Given the description of an element on the screen output the (x, y) to click on. 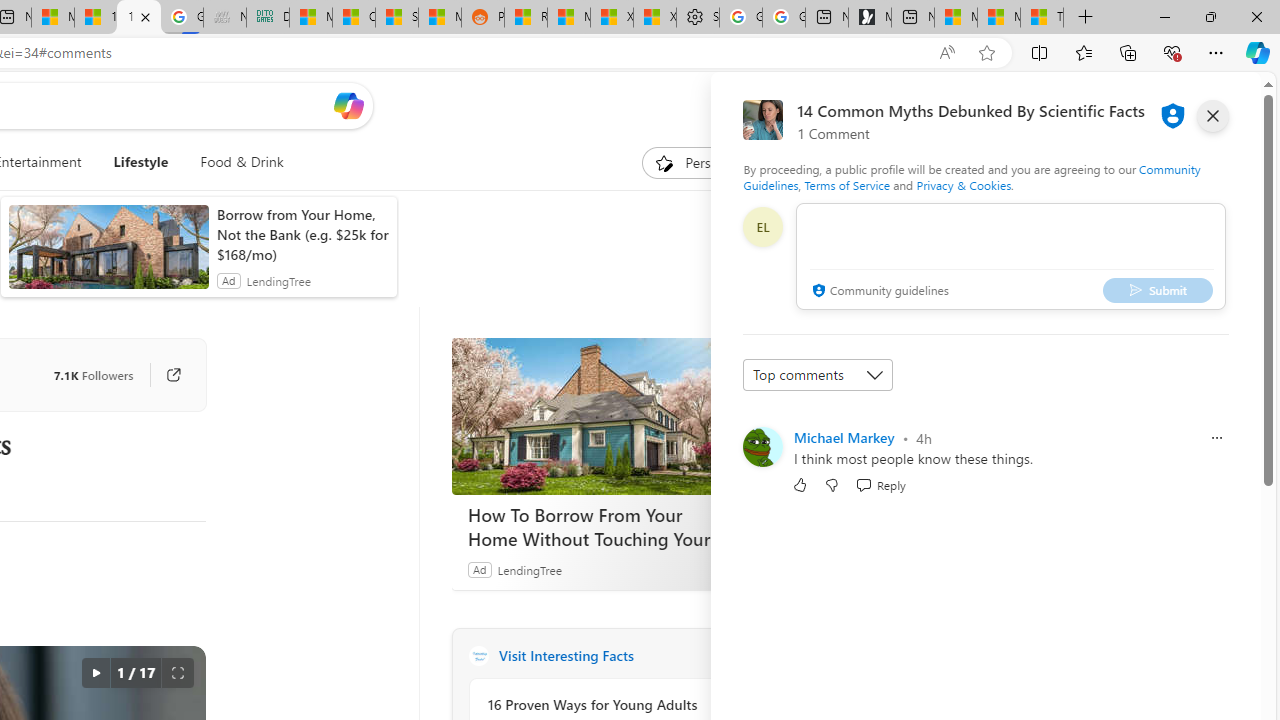
close (1212, 115)
These 3 Stocks Pay You More Than 5% to Own Them (1042, 17)
Report comment (1216, 437)
Community Guidelines (971, 176)
Food & Drink (241, 162)
